Given the description of an element on the screen output the (x, y) to click on. 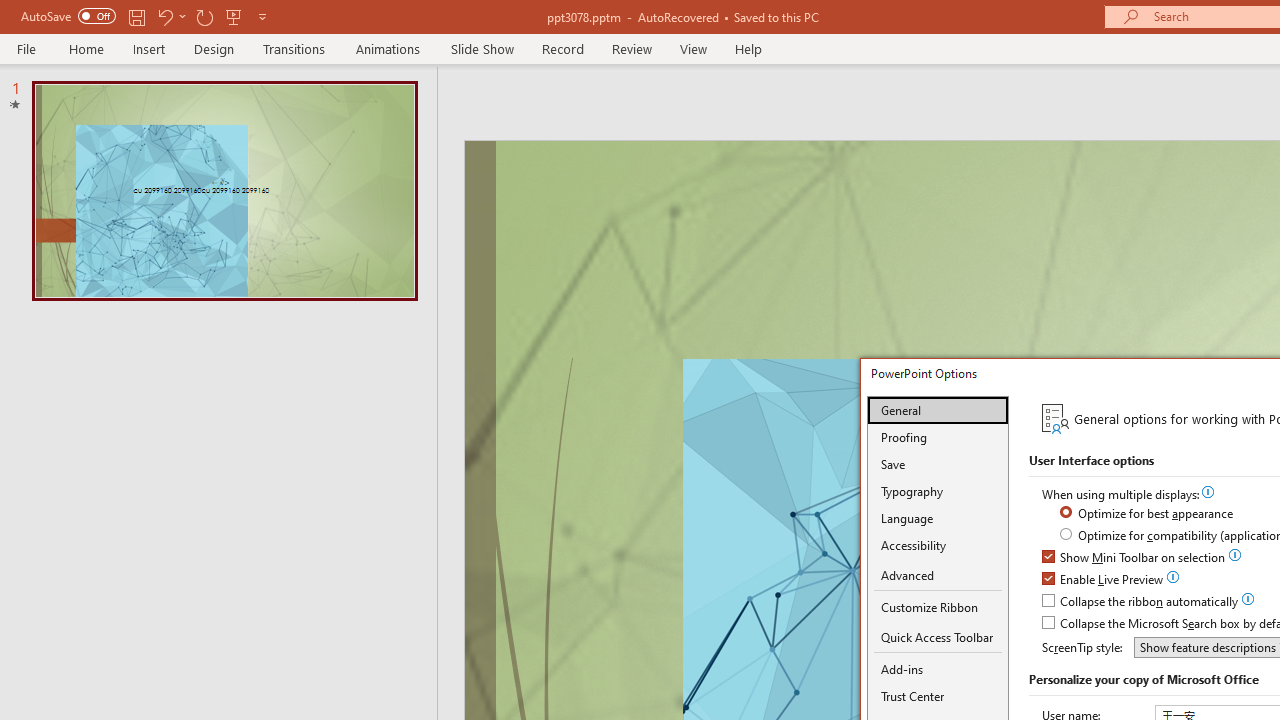
Optimize for best appearance (1147, 514)
Show Mini Toolbar on selection (1134, 558)
